Given the description of an element on the screen output the (x, y) to click on. 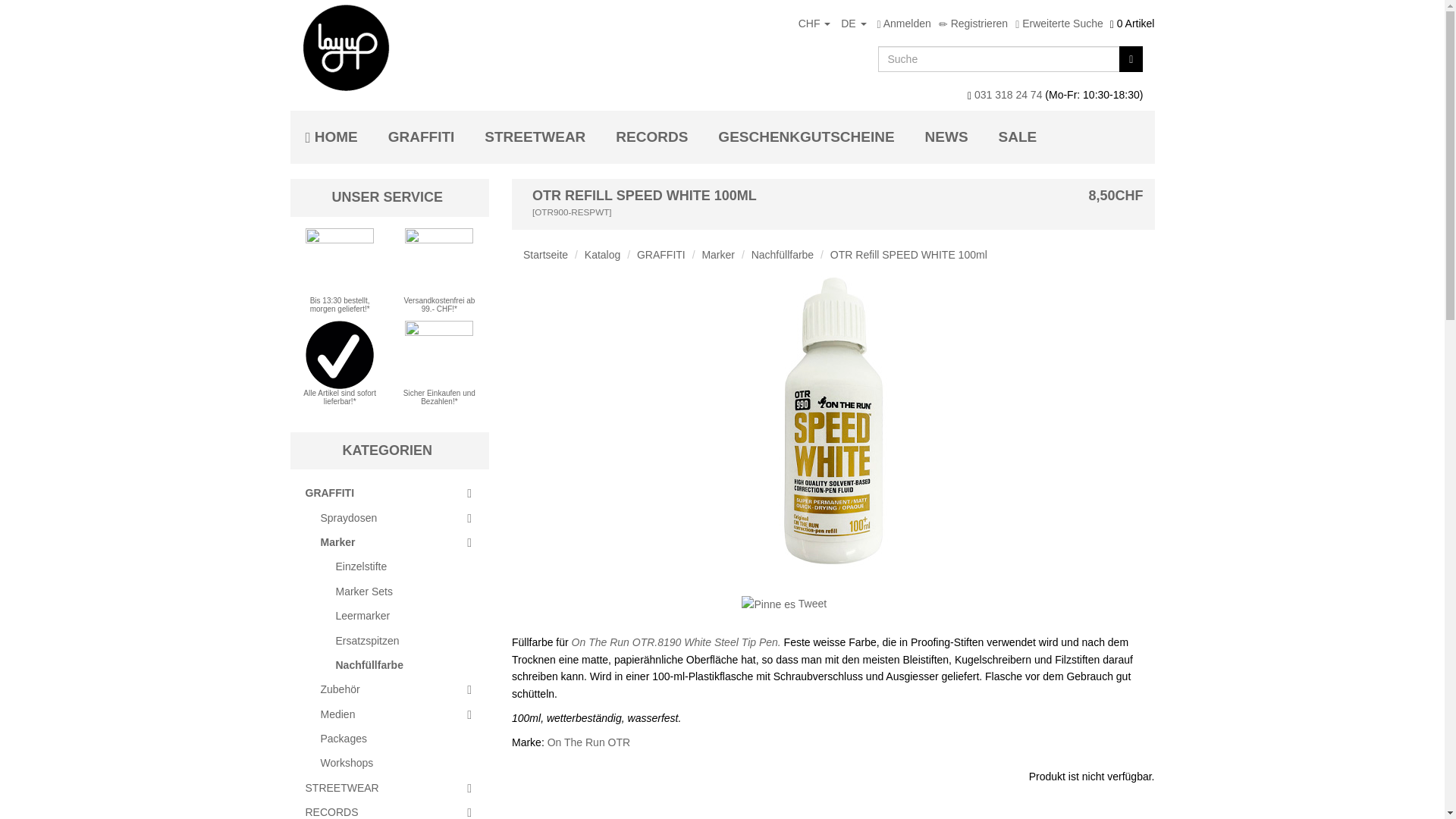
Startseite (544, 254)
Pinne es (767, 604)
NEWS (947, 136)
Anmelden (903, 23)
GRAFFITI (661, 254)
On The Run OTR (588, 742)
Tweet (812, 603)
Katalog (602, 254)
031 318 24 74 (1008, 94)
SALE (1018, 136)
DE (853, 23)
HOME (330, 136)
STREETWEAR (533, 136)
On The Run OTR.8190 White Steel Tip Pen. (676, 642)
Spraydosen (398, 517)
